Given the description of an element on the screen output the (x, y) to click on. 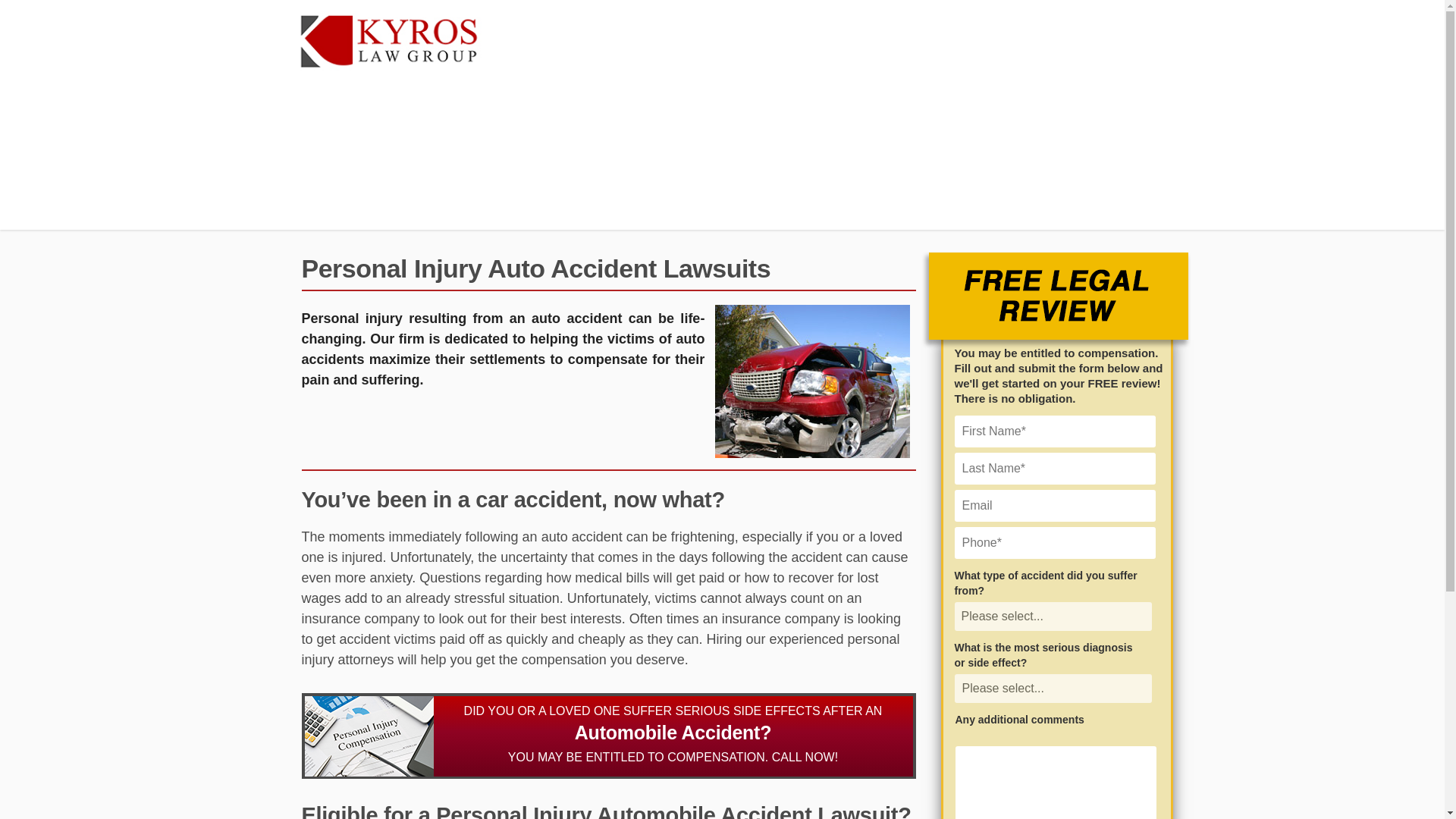
Dangerous Drugs (349, 119)
